Given the description of an element on the screen output the (x, y) to click on. 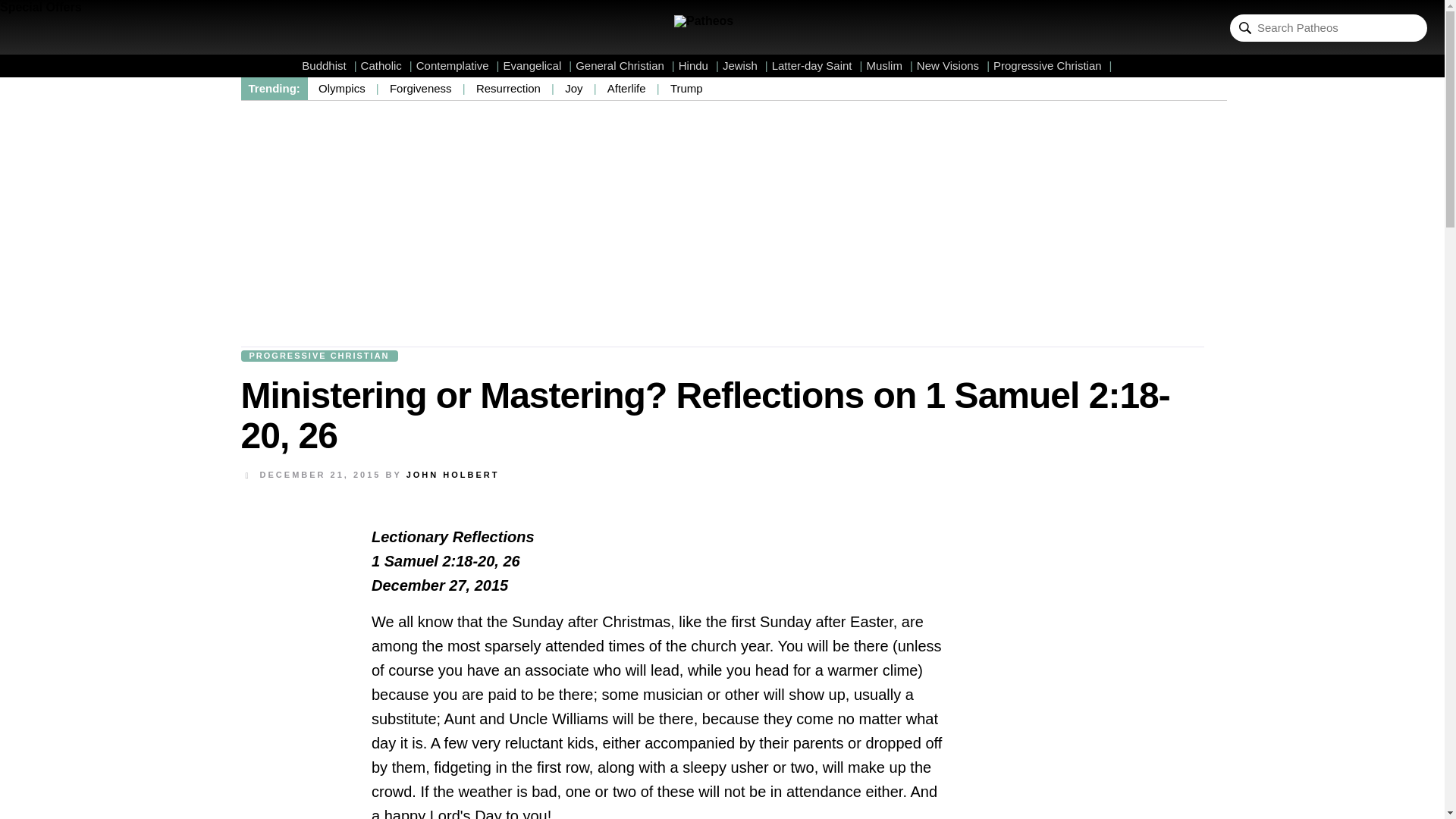
Hindu (698, 65)
General Christian (625, 65)
Buddhist (328, 65)
Evangelical (537, 65)
Contemplative (457, 65)
Progressive Christian (1052, 65)
Muslim (889, 65)
Catholic (386, 65)
New Visions (953, 65)
Jewish (745, 65)
